Given the description of an element on the screen output the (x, y) to click on. 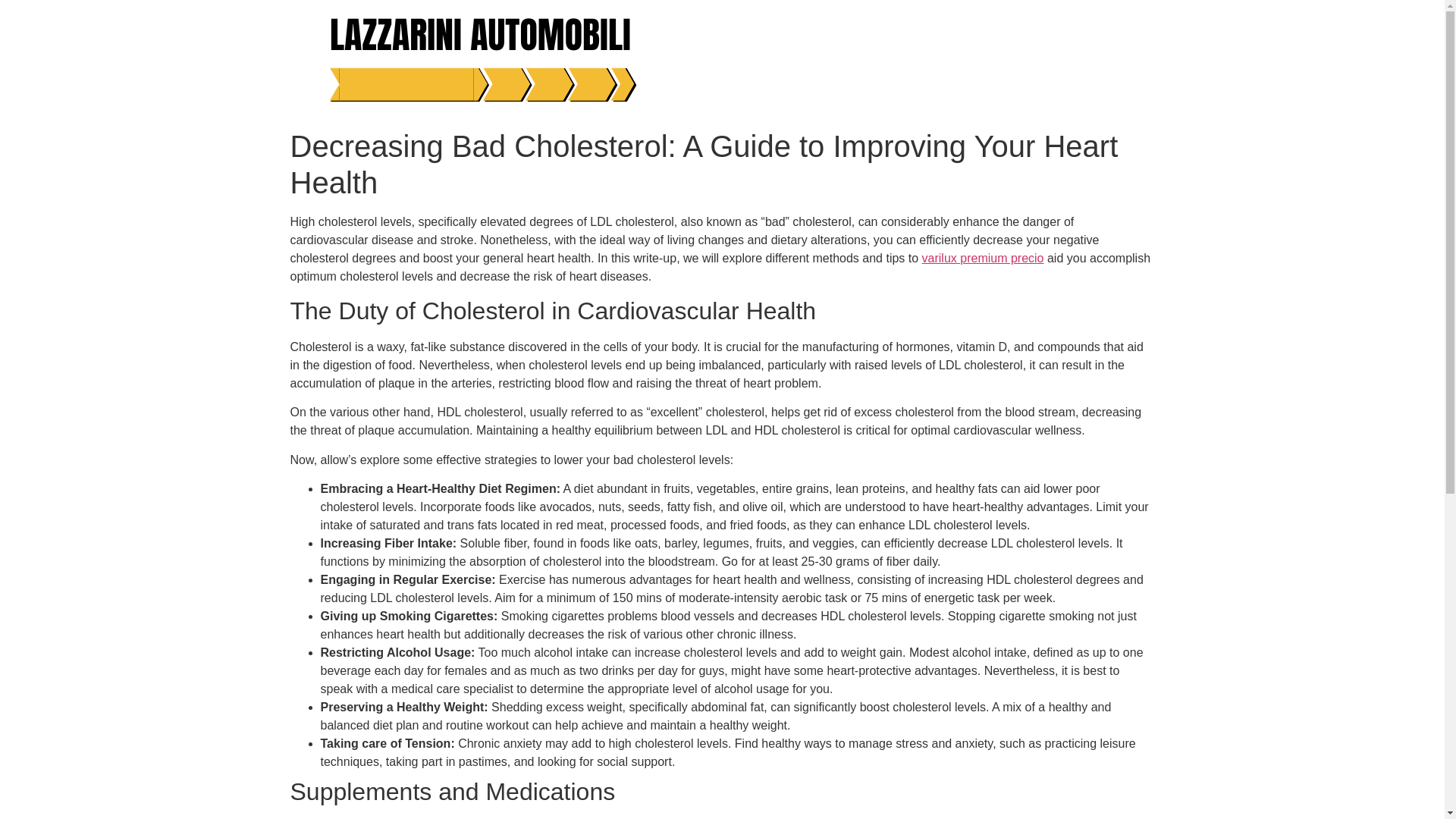
varilux premium precio (982, 257)
